Given the description of an element on the screen output the (x, y) to click on. 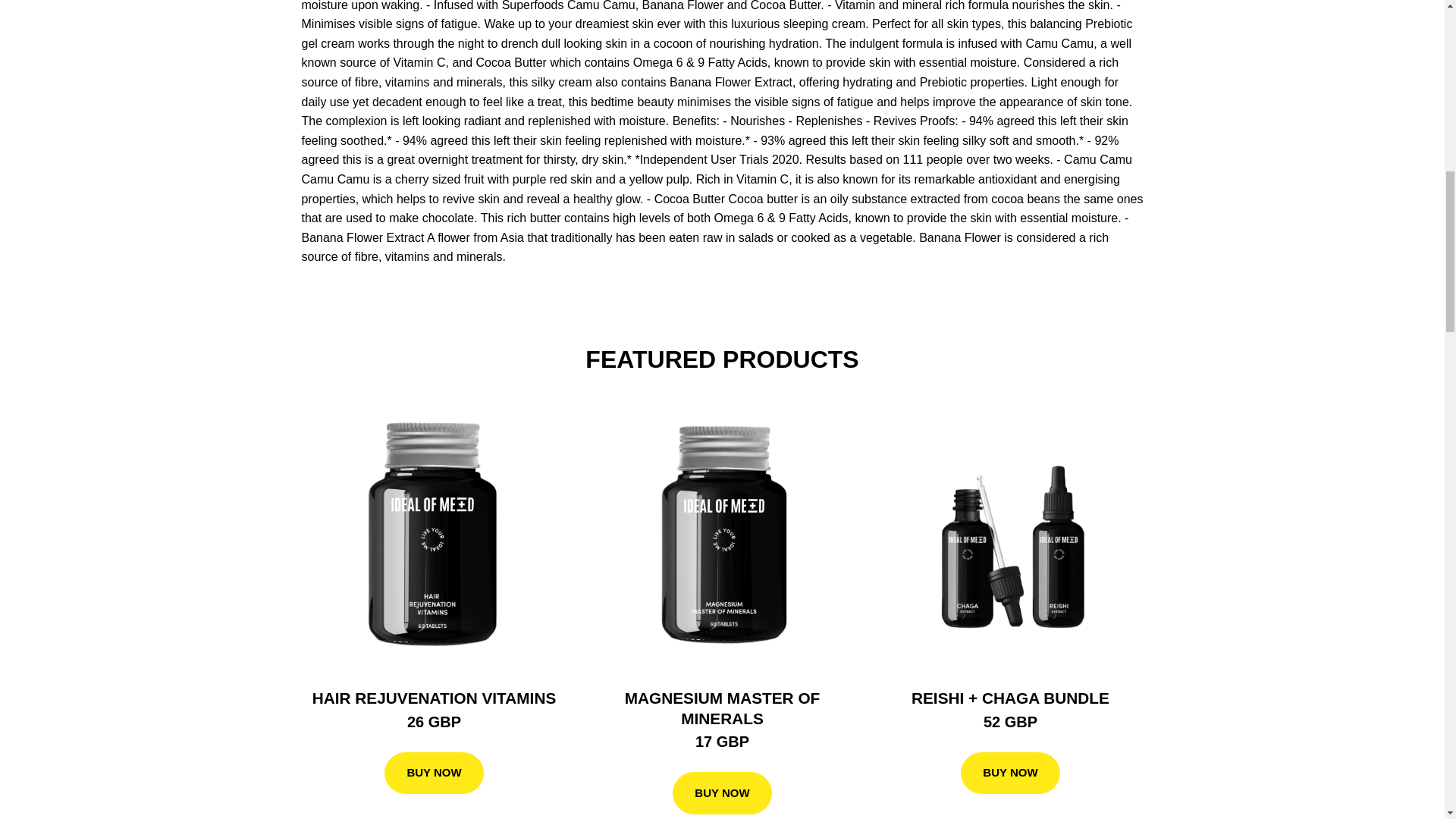
MAGNESIUM MASTER OF MINERALS (722, 708)
BUY NOW (1009, 773)
HAIR REJUVENATION VITAMINS (434, 697)
BUY NOW (721, 793)
BUY NOW (433, 773)
